Given the description of an element on the screen output the (x, y) to click on. 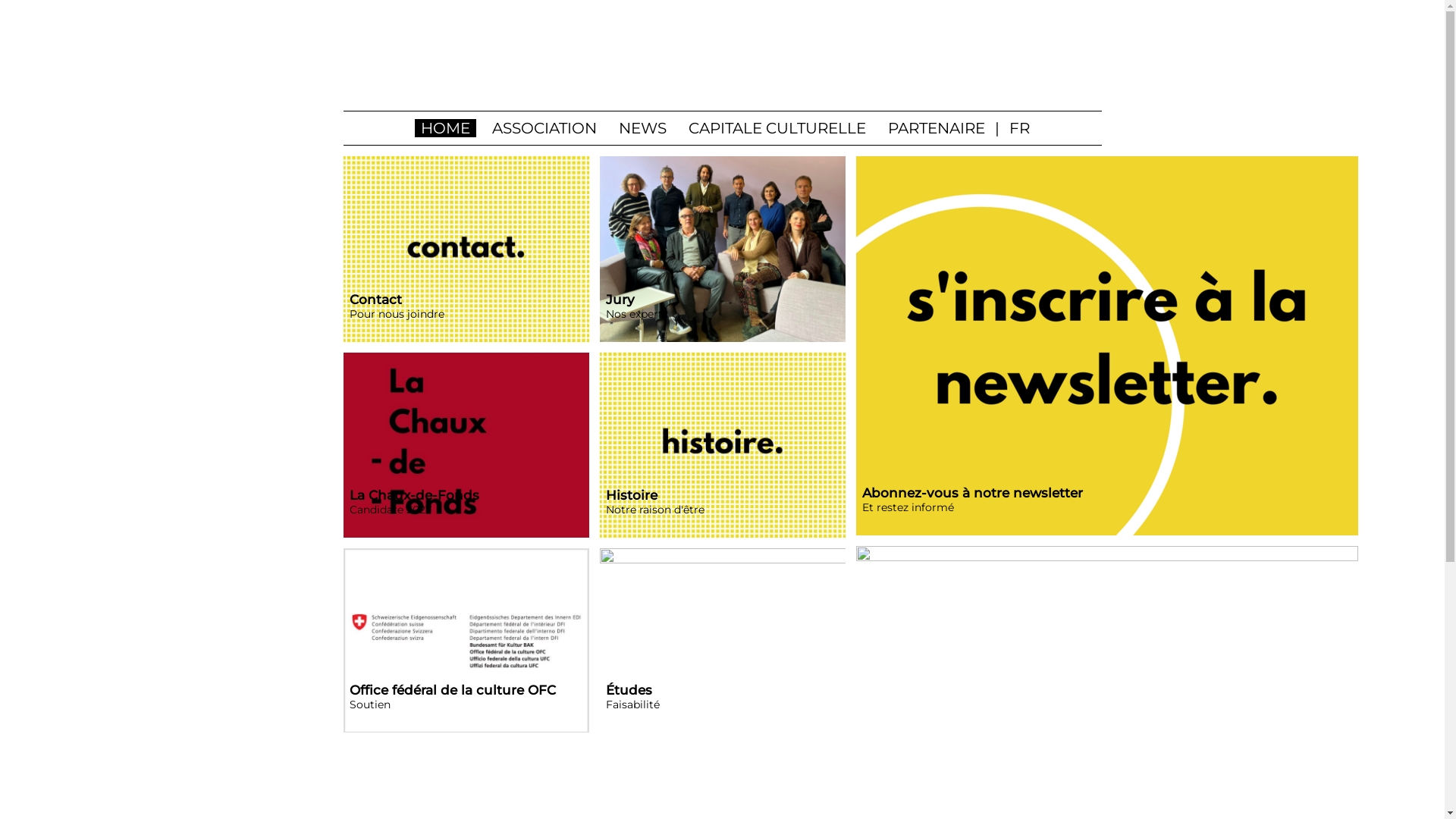
Contact Element type: hover (465, 249)
CAPITALE CULTURELLE Element type: text (777, 128)
La Chaux-de-Fonds Element type: hover (465, 445)
La Chaux-de-Fonds
Candidate 2027 Element type: text (465, 510)
FR Element type: text (1019, 128)
Histoire Element type: hover (721, 445)
Contact
Pour nous joindre Element type: text (465, 315)
Jury
Nos experts Element type: text (721, 315)
NEWS Element type: text (642, 128)
HOME Element type: text (445, 128)
Jury Element type: hover (721, 249)
ASSOCIATION Element type: text (544, 128)
PARTENAIRE Element type: text (936, 128)
